Given the description of an element on the screen output the (x, y) to click on. 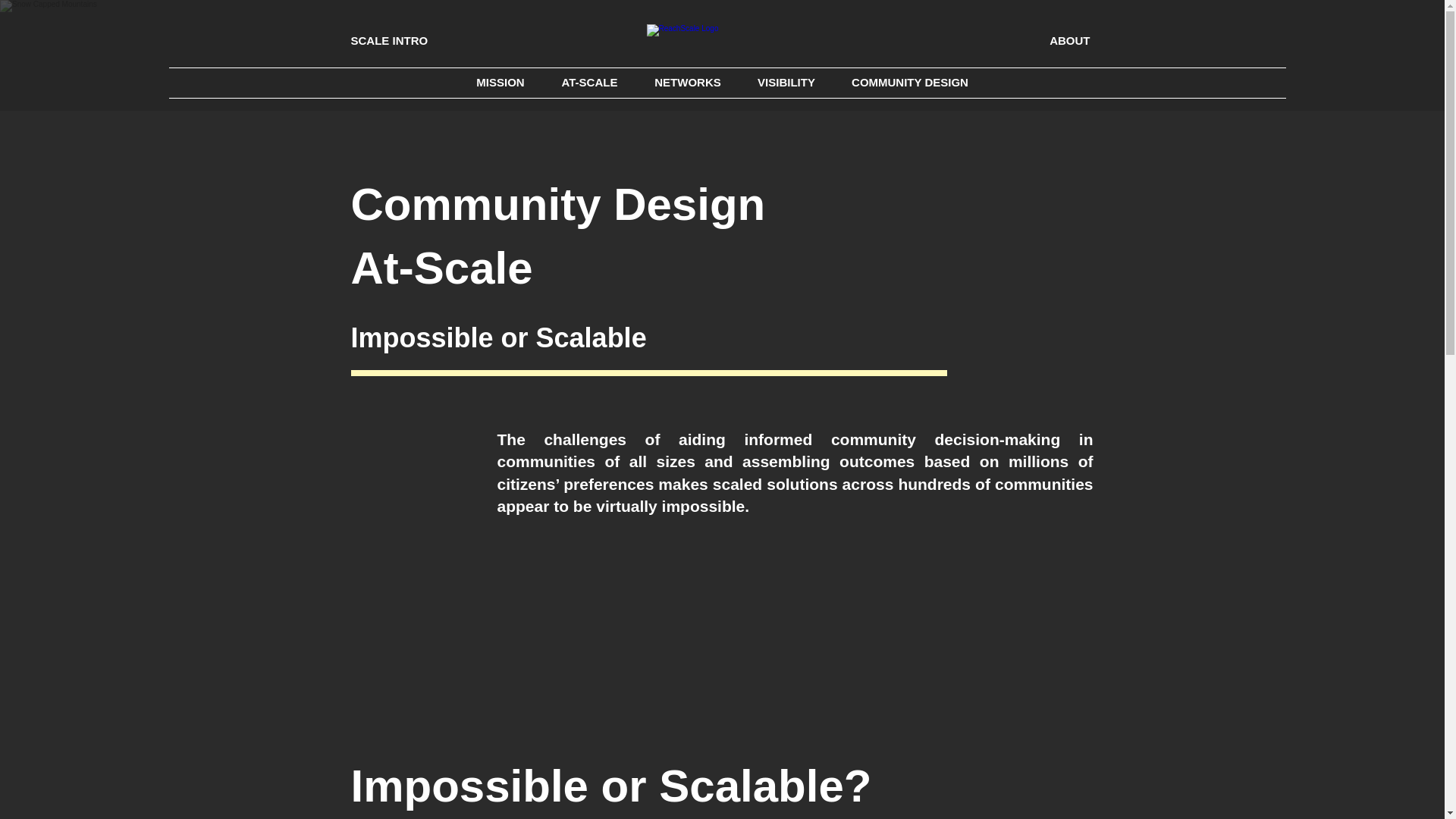
ABOUT (1013, 39)
SCALE INTRO (429, 39)
VISIBILITY (785, 82)
NETWORKS (686, 82)
MISSION (499, 82)
COMMUNITY DESIGN (908, 82)
AT-SCALE (589, 82)
